Given the description of an element on the screen output the (x, y) to click on. 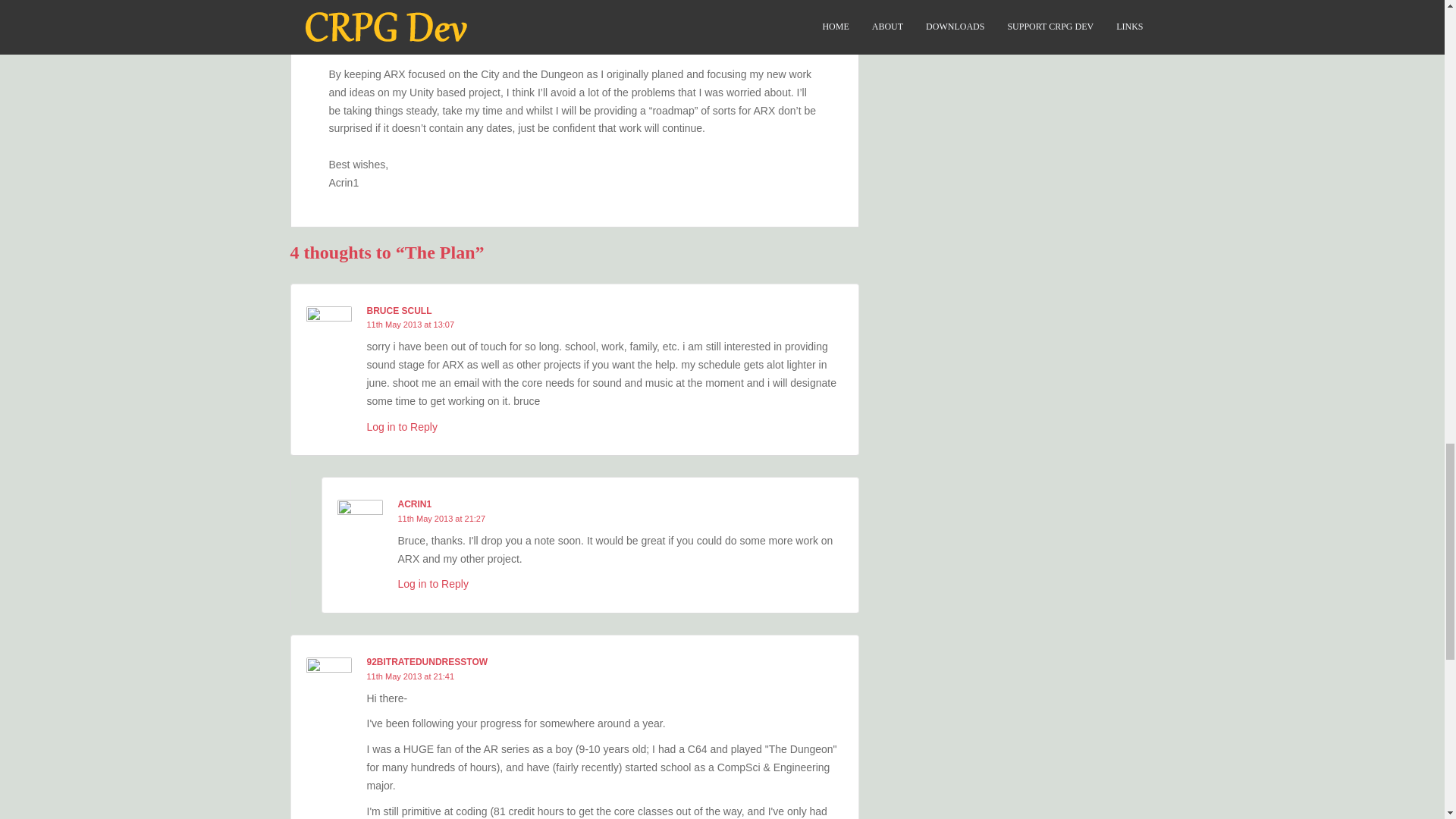
Log in to Reply (402, 426)
ACRIN1 (413, 503)
11th May 2013 at 21:41 (410, 675)
11th May 2013 at 13:07 (410, 324)
92BITRATEDUNDRESSTOW (426, 661)
BRUCE SCULL (399, 310)
Log in to Reply (432, 583)
11th May 2013 at 21:27 (440, 518)
